Given the description of an element on the screen output the (x, y) to click on. 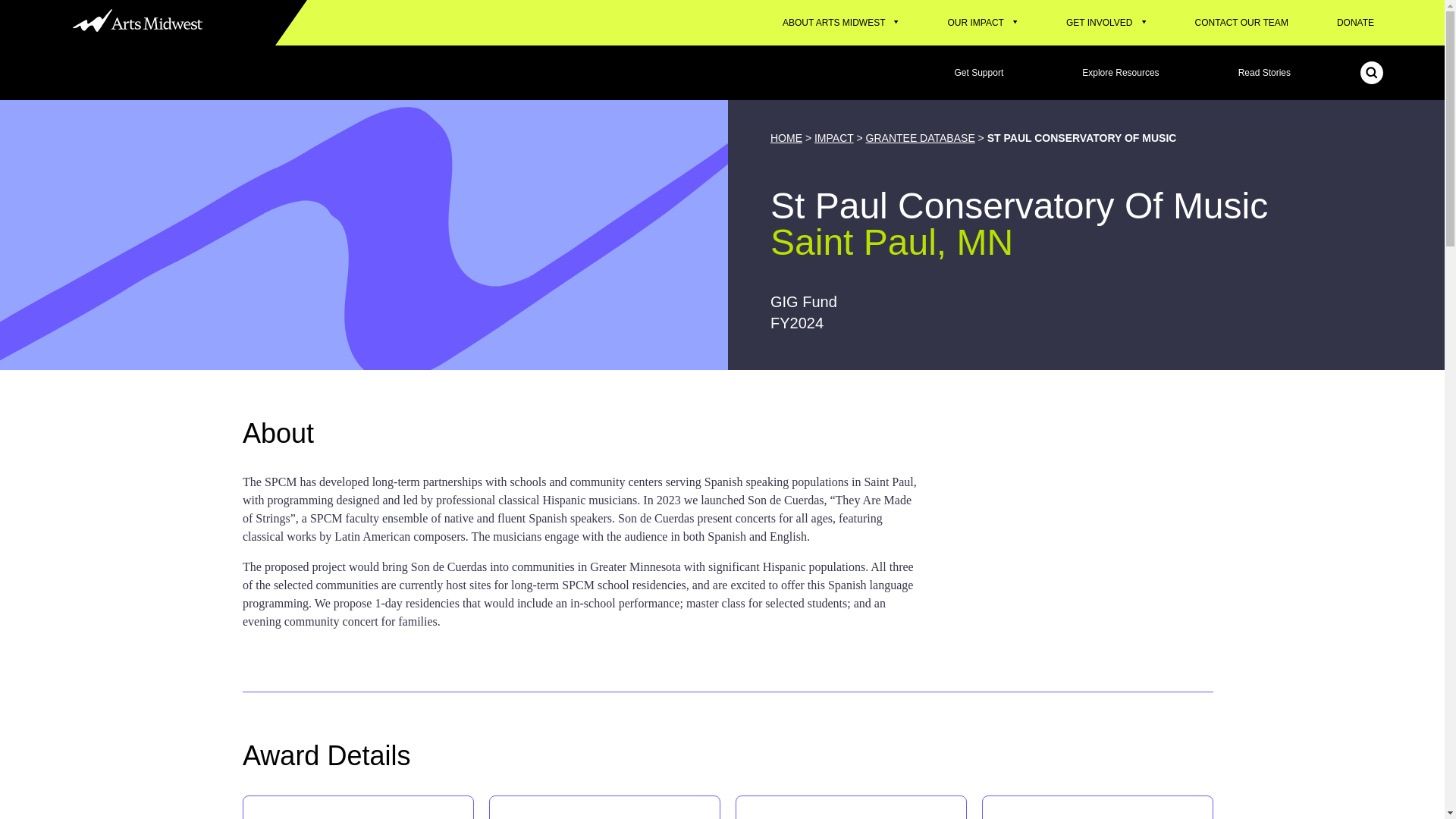
DONATE (1355, 22)
Get Support (978, 72)
CONTACT OUR TEAM (1241, 22)
